Given the description of an element on the screen output the (x, y) to click on. 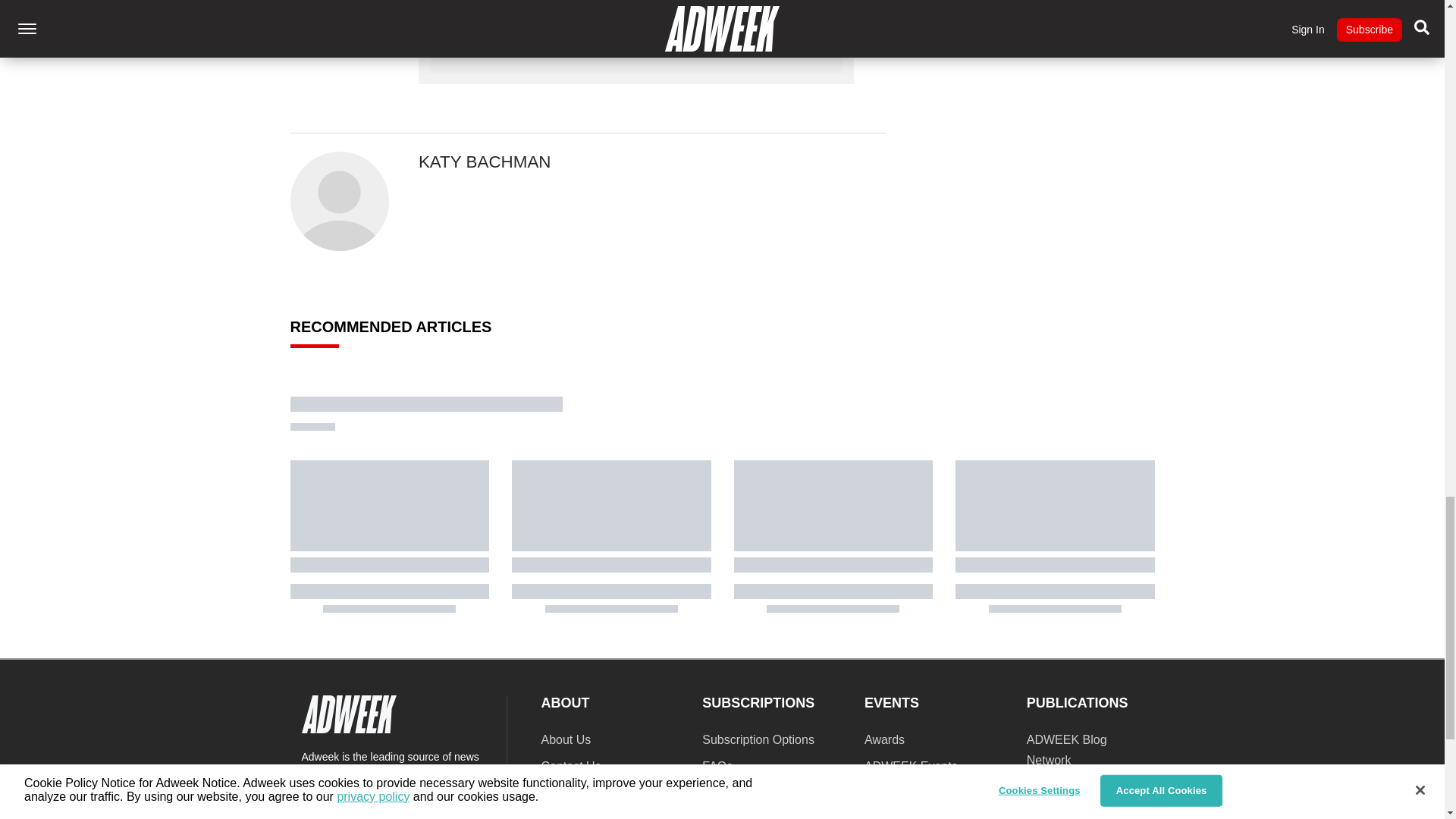
Sign in (683, 28)
Adobe-Webinar-082224-Header (948, 14)
